Given the description of an element on the screen output the (x, y) to click on. 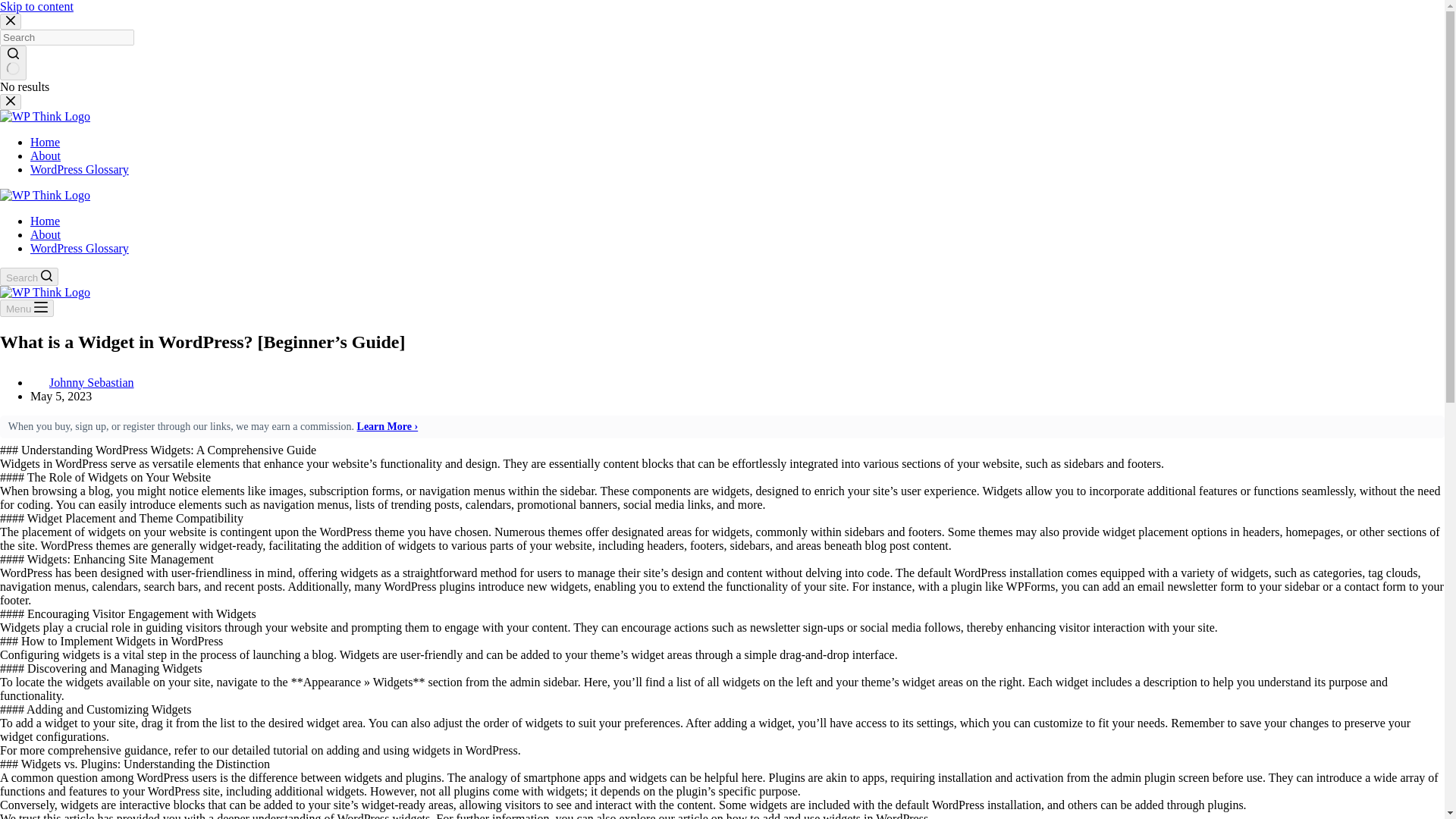
Johnny Sebastian (91, 382)
Skip to content (37, 6)
Posts by Johnny Sebastian (91, 382)
WordPress Glossary (79, 169)
WordPress Glossary (79, 247)
About (45, 234)
Home (44, 141)
Home (44, 220)
Search for... (66, 37)
About (45, 155)
